Given the description of an element on the screen output the (x, y) to click on. 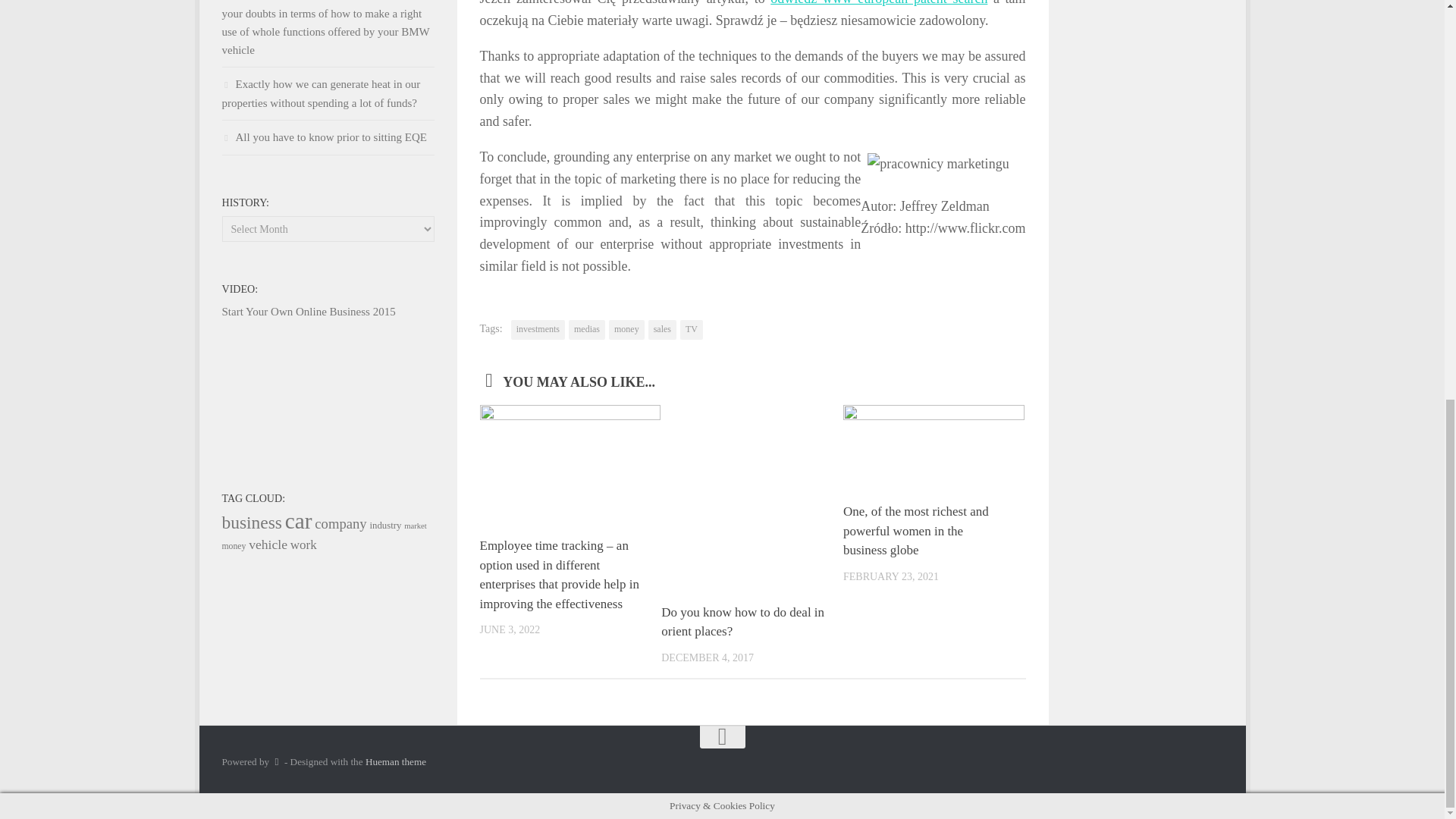
investments (537, 329)
business (251, 522)
industry (385, 525)
Powered by WordPress (275, 761)
medias (587, 329)
Do you know how to do deal in orient places? (742, 622)
Hueman theme (395, 760)
pracownicy marketingu (938, 164)
market (415, 525)
TV (691, 329)
sales (662, 329)
car (299, 520)
money (626, 329)
